Given the description of an element on the screen output the (x, y) to click on. 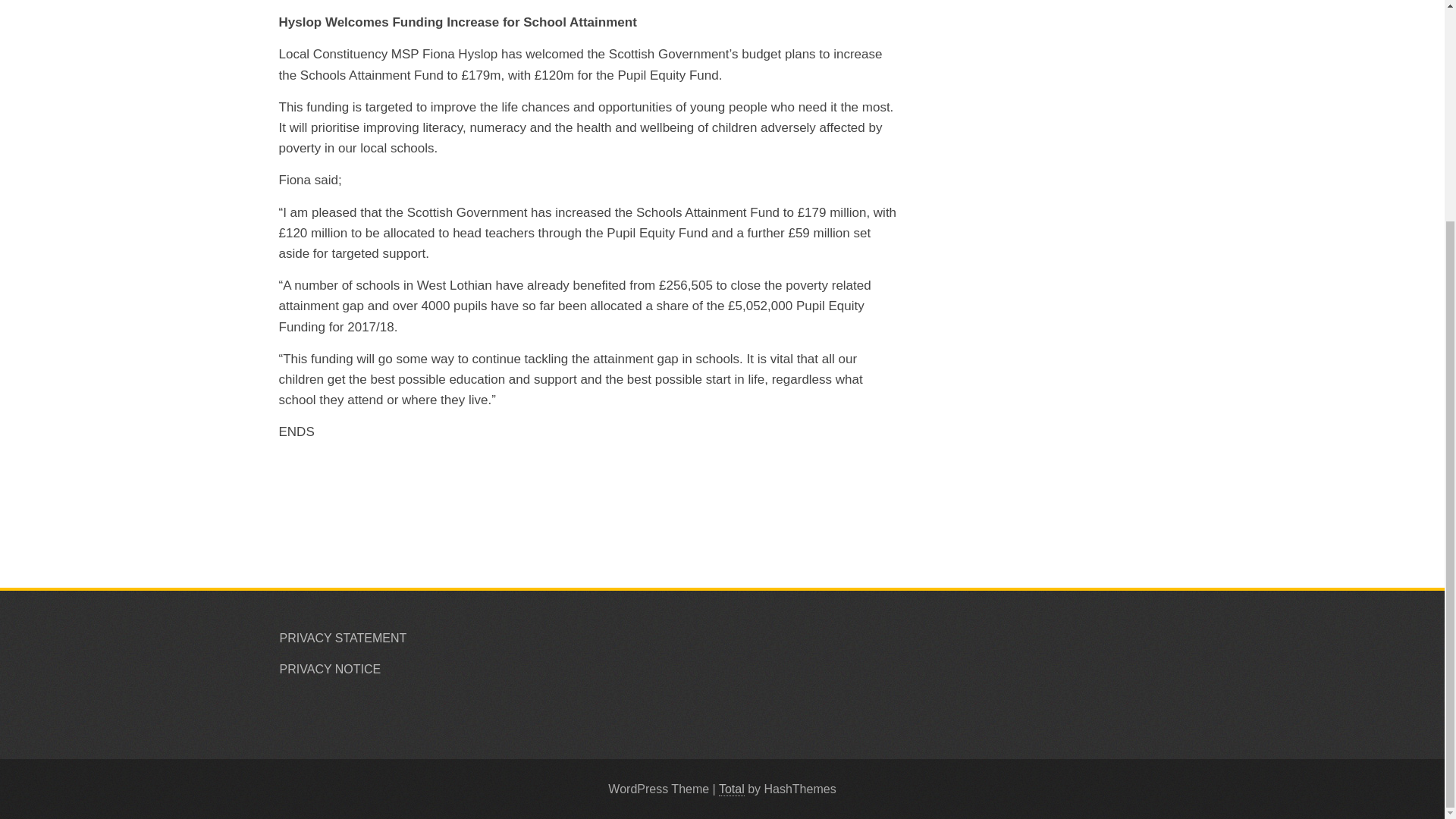
PRIVACY NOTICE (330, 668)
PRIVACY STATEMENT (343, 637)
Total (731, 789)
